Given the description of an element on the screen output the (x, y) to click on. 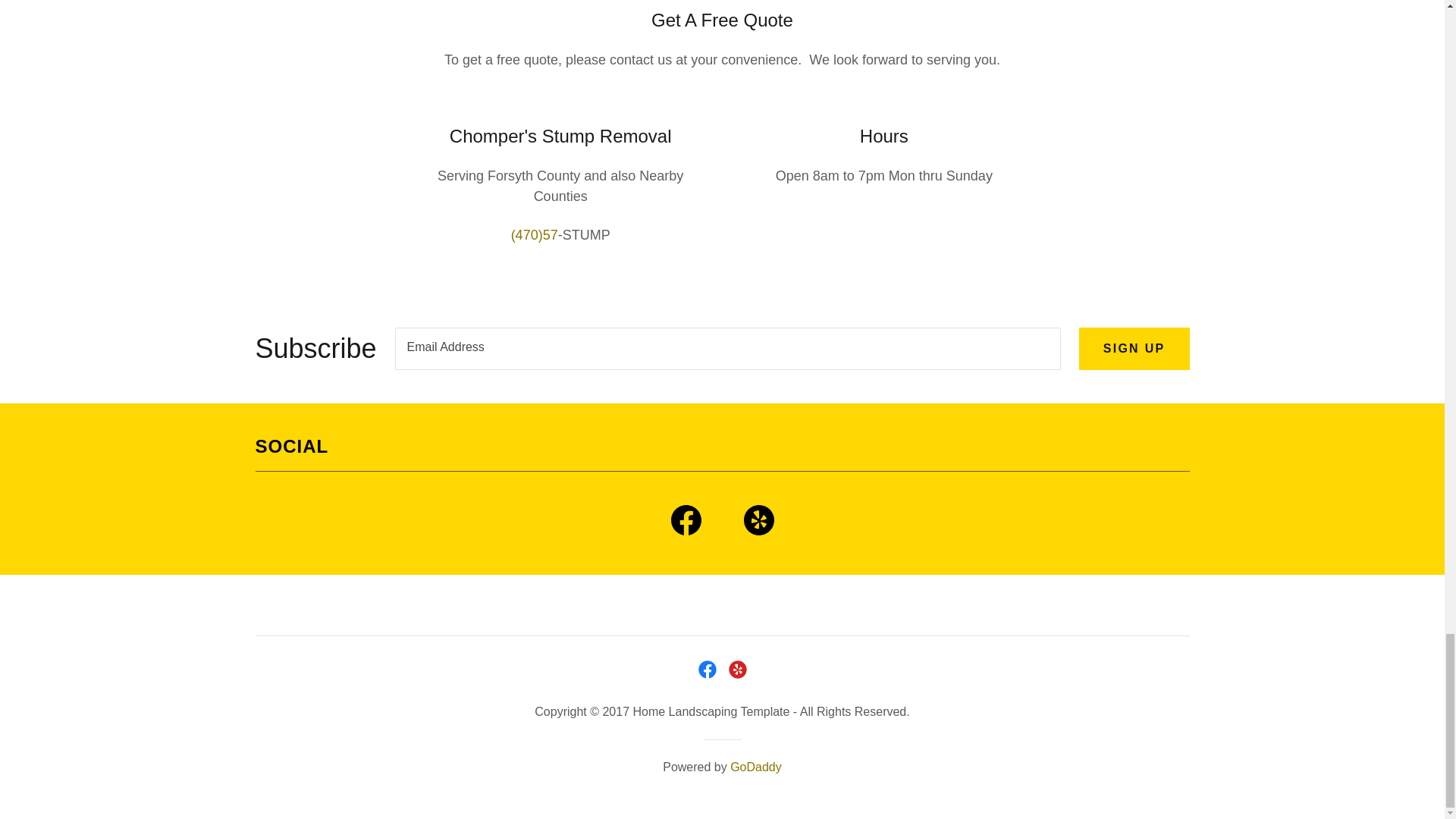
GoDaddy (755, 766)
SIGN UP (1133, 348)
